Given the description of an element on the screen output the (x, y) to click on. 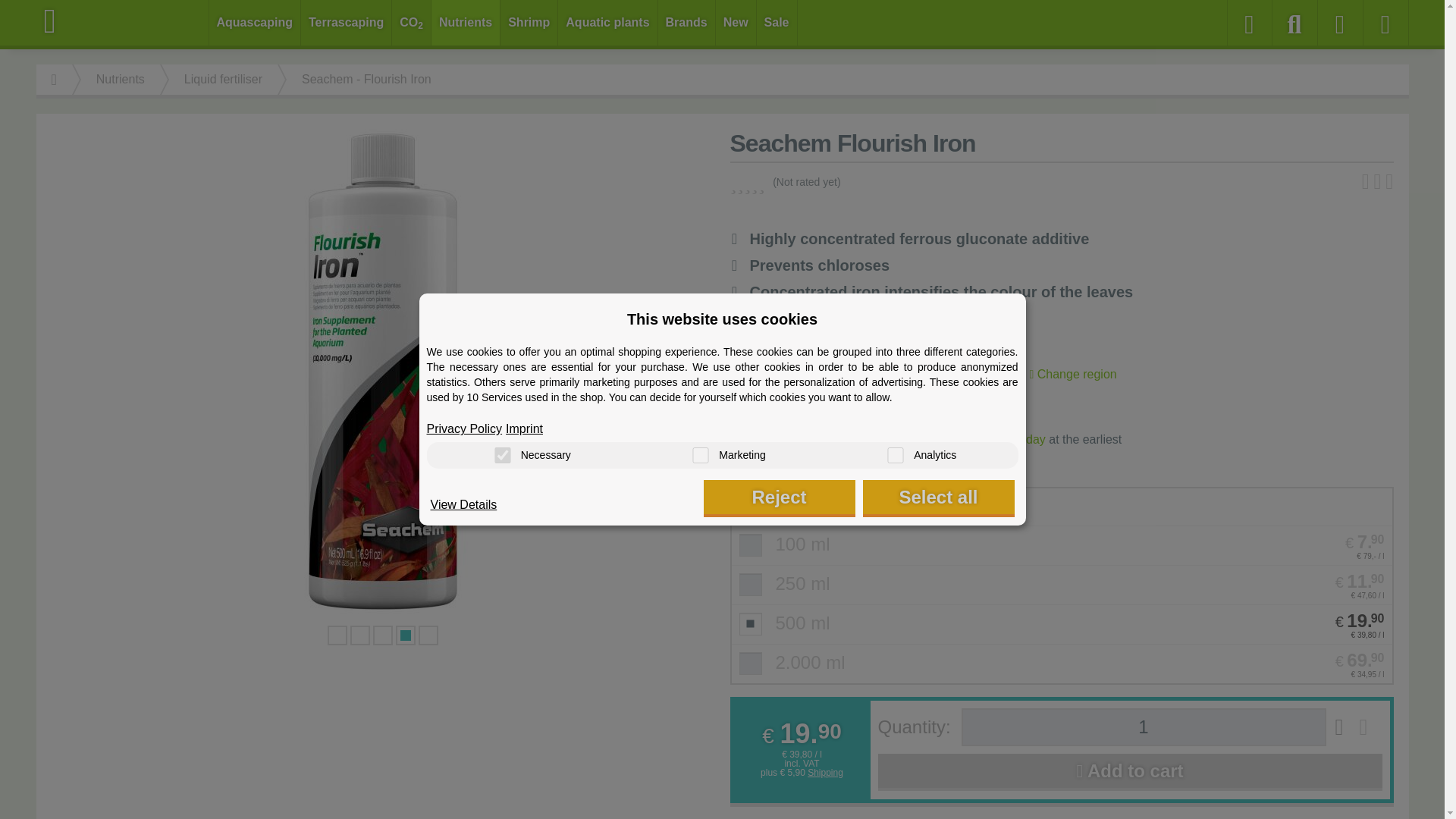
on (699, 455)
Aquascaping (254, 22)
on (895, 455)
1 (1143, 727)
Aquasabi (123, 21)
on (501, 455)
